Given the description of an element on the screen output the (x, y) to click on. 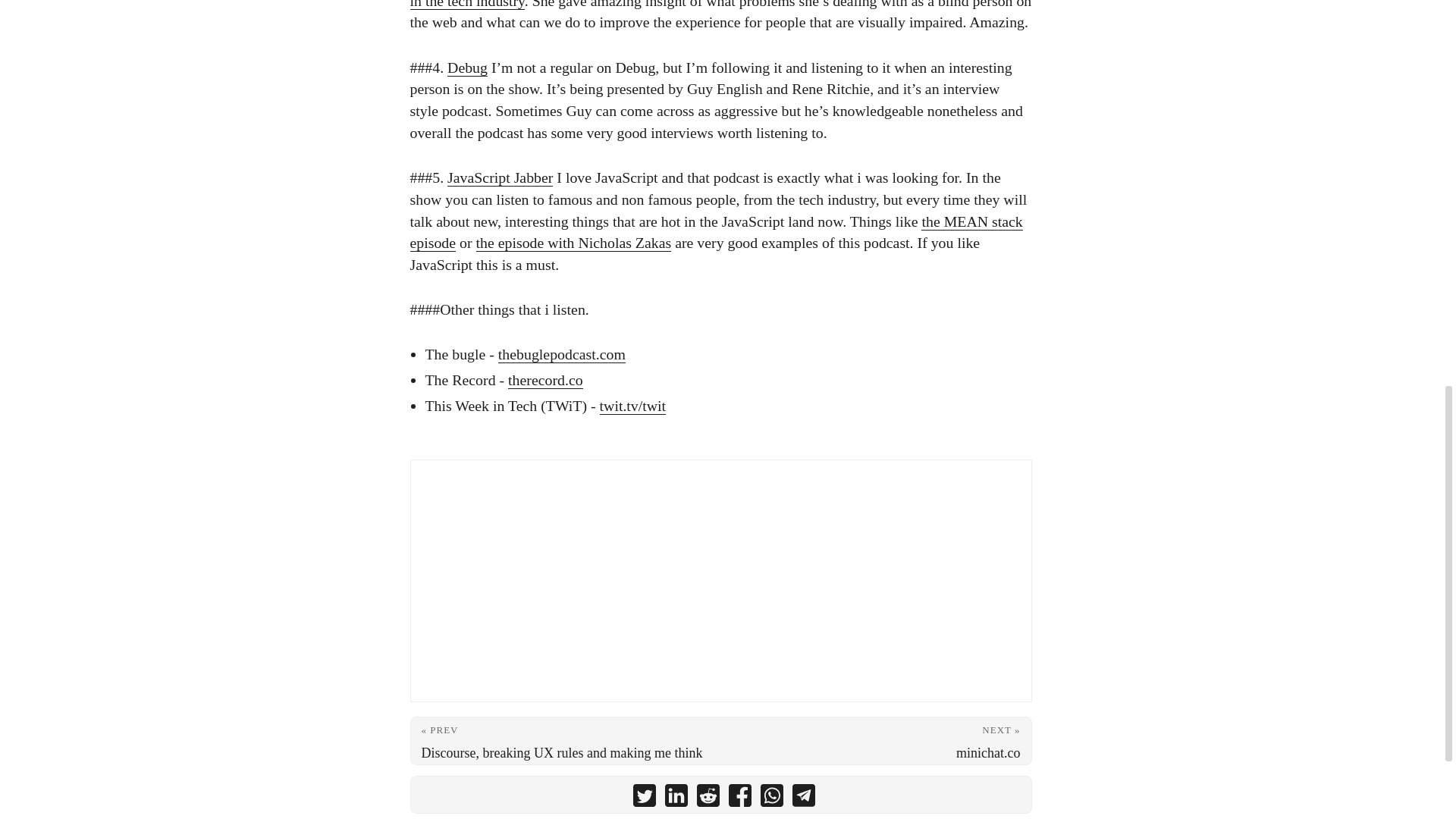
Debug (466, 67)
therecord.co (545, 379)
the episode with Nicholas Zakas (573, 242)
JavaScript Jabber (499, 176)
thebuglepodcast.com (561, 353)
the MEAN stack episode (715, 231)
